Given the description of an element on the screen output the (x, y) to click on. 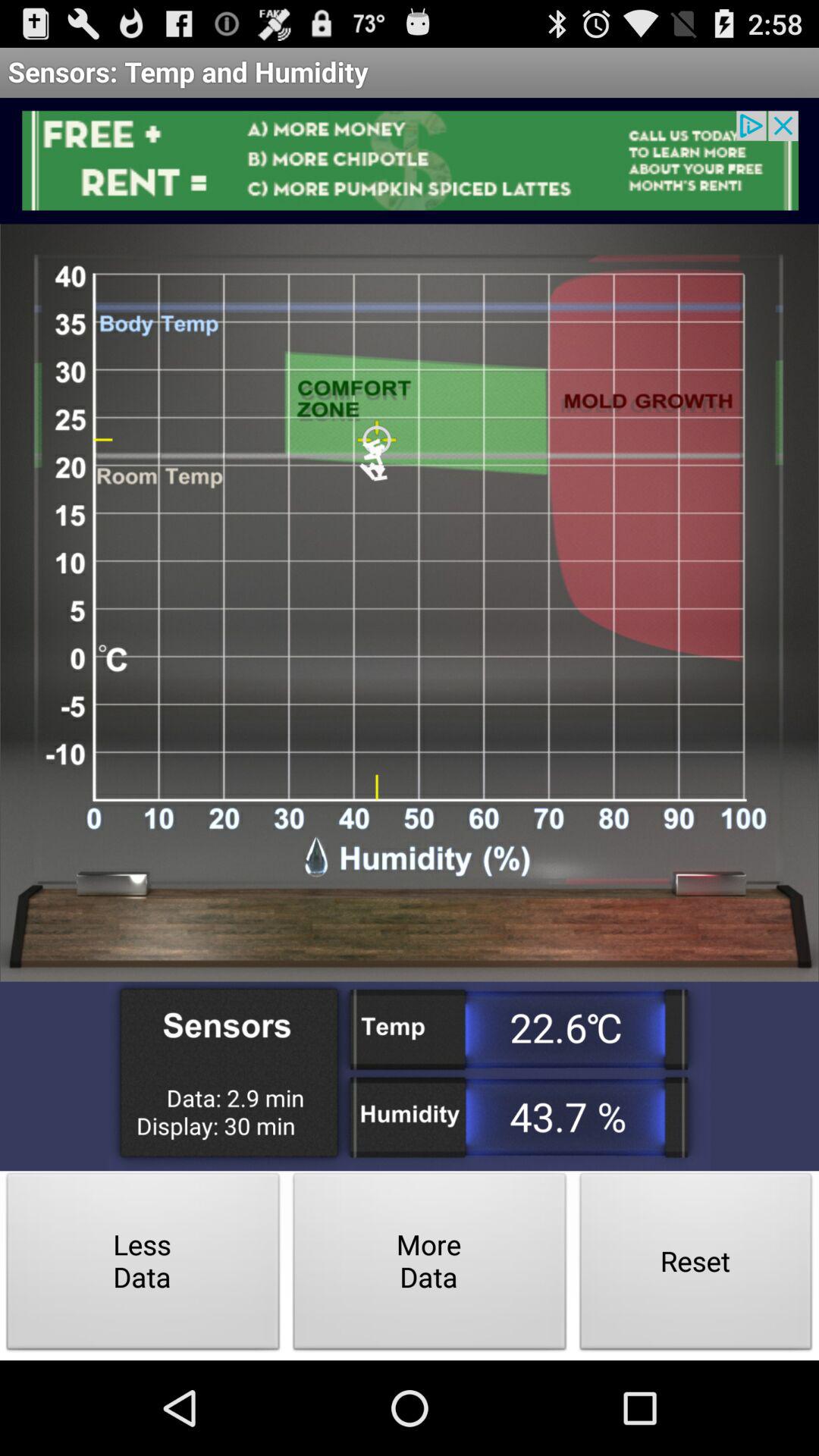
press the item below sensors temp and item (409, 160)
